Given the description of an element on the screen output the (x, y) to click on. 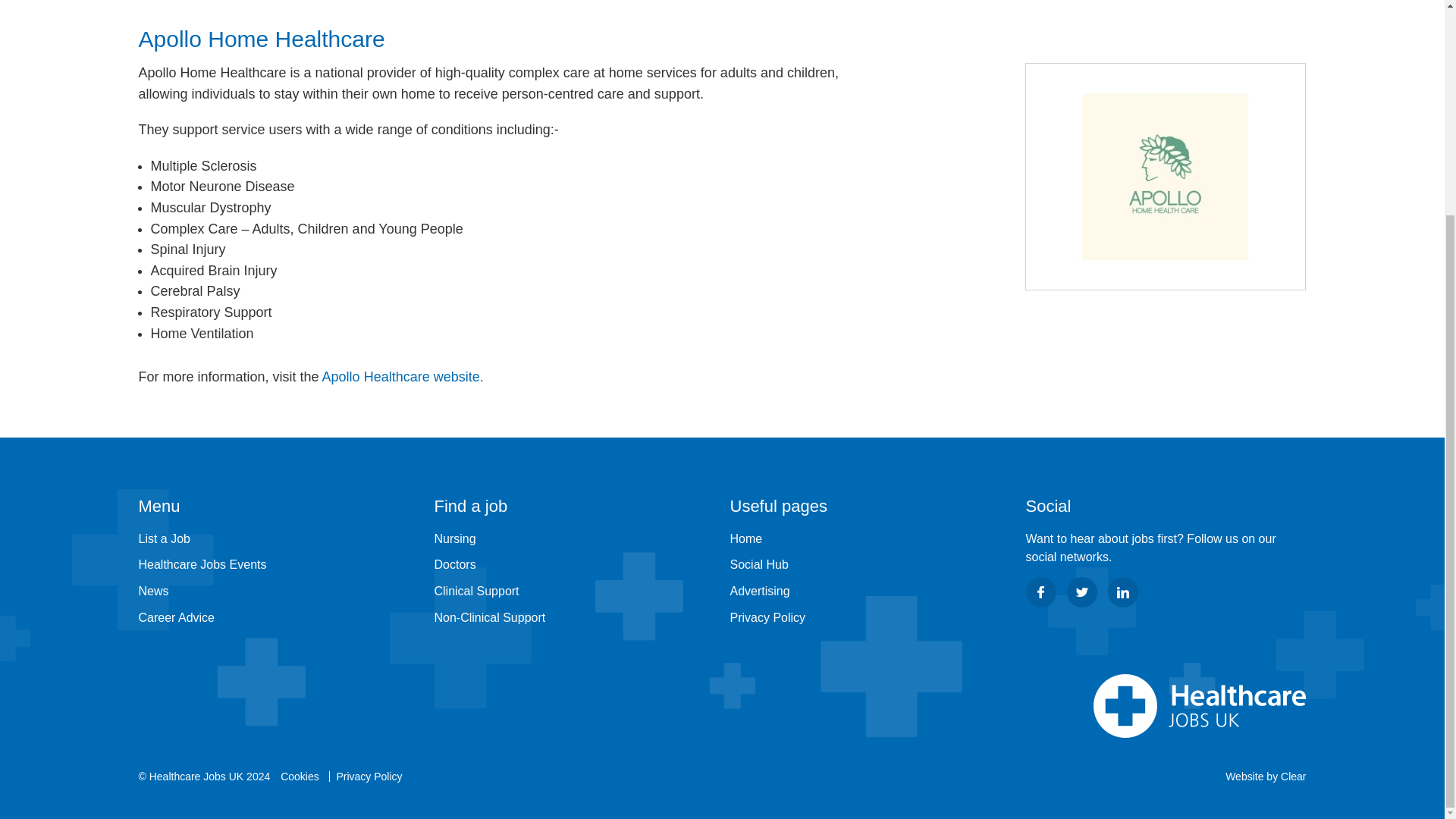
Menu (278, 506)
Website by Clear (1265, 776)
Advertising (759, 590)
Healthcare Jobs Events (202, 563)
Find a job (573, 506)
Social Hub (758, 563)
Privacy Policy (767, 617)
Cookies (299, 776)
Facebook (1040, 592)
Social (1165, 506)
Doctors (454, 563)
Privacy Policy (368, 776)
Useful pages (869, 506)
Nursing (454, 538)
Apollo Healthcare website. (402, 376)
